Given the description of an element on the screen output the (x, y) to click on. 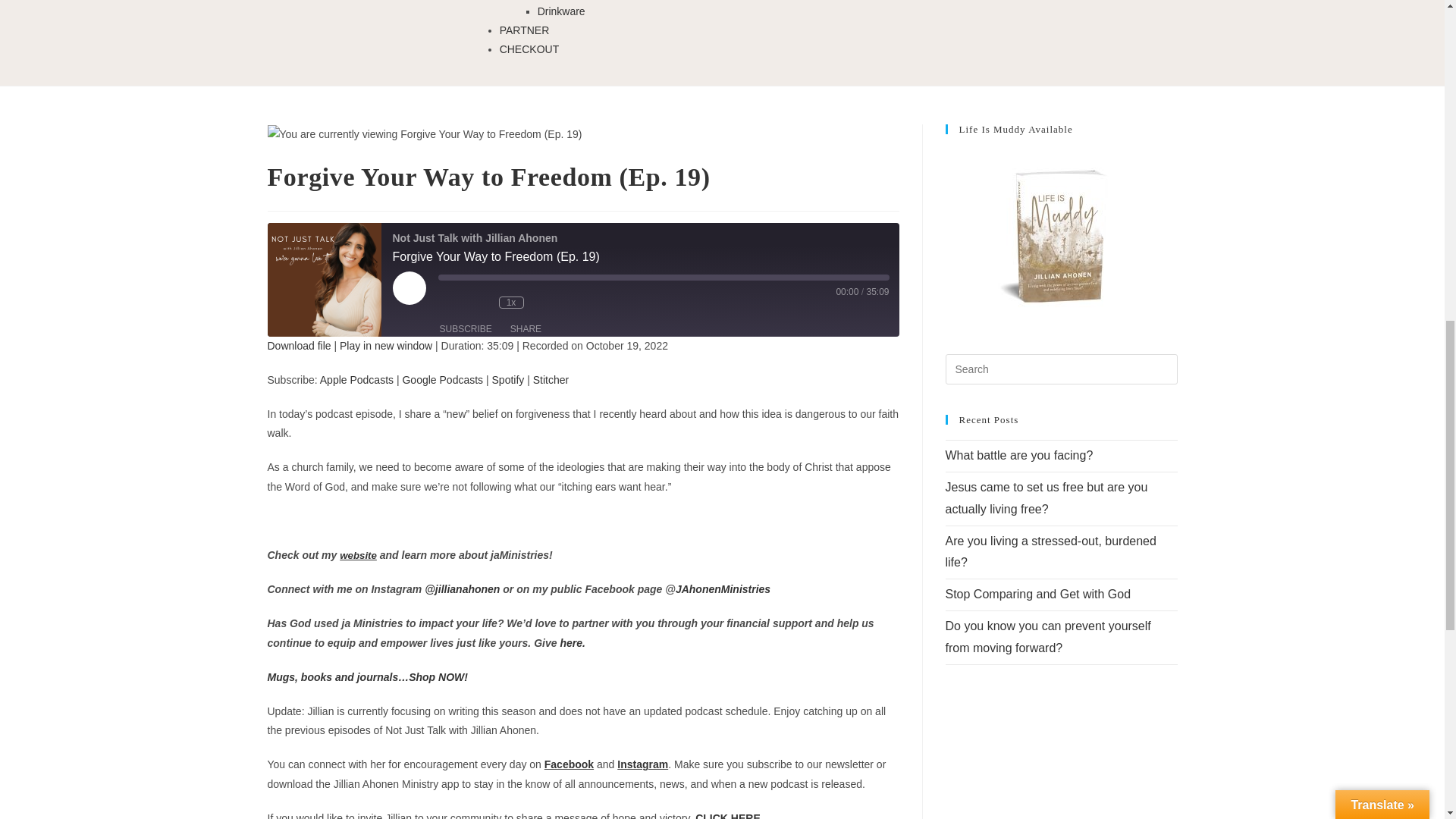
Fast Forward 30 seconds (545, 302)
Play (409, 287)
Not Just Talk with Jillian Ahonen (323, 279)
Subscribe (465, 328)
Playback Speed (511, 302)
Share (525, 328)
Seek (663, 277)
